Given the description of an element on the screen output the (x, y) to click on. 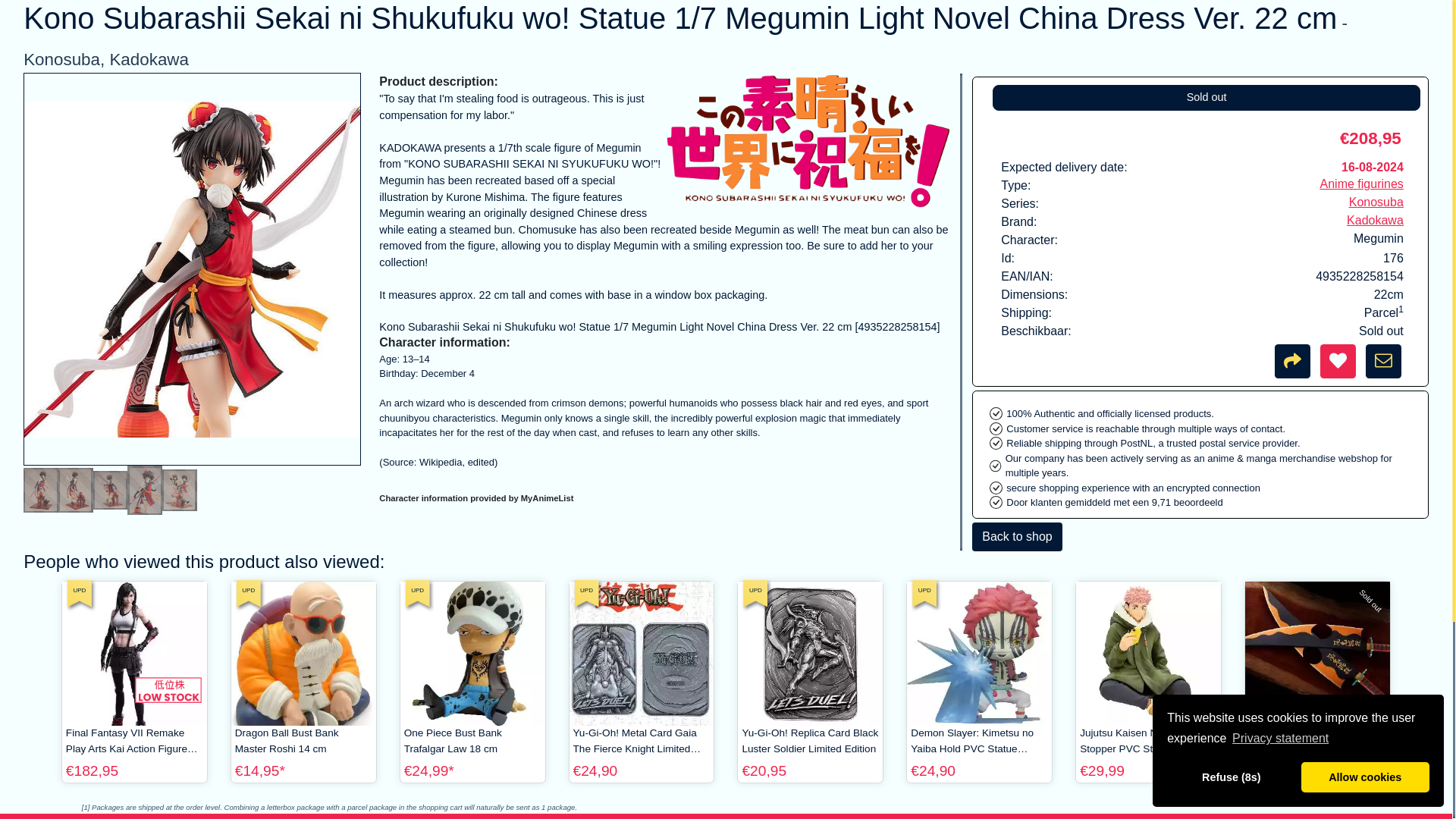
Allow cookies (1365, 692)
Privacy statement (1281, 653)
